Given the description of an element on the screen output the (x, y) to click on. 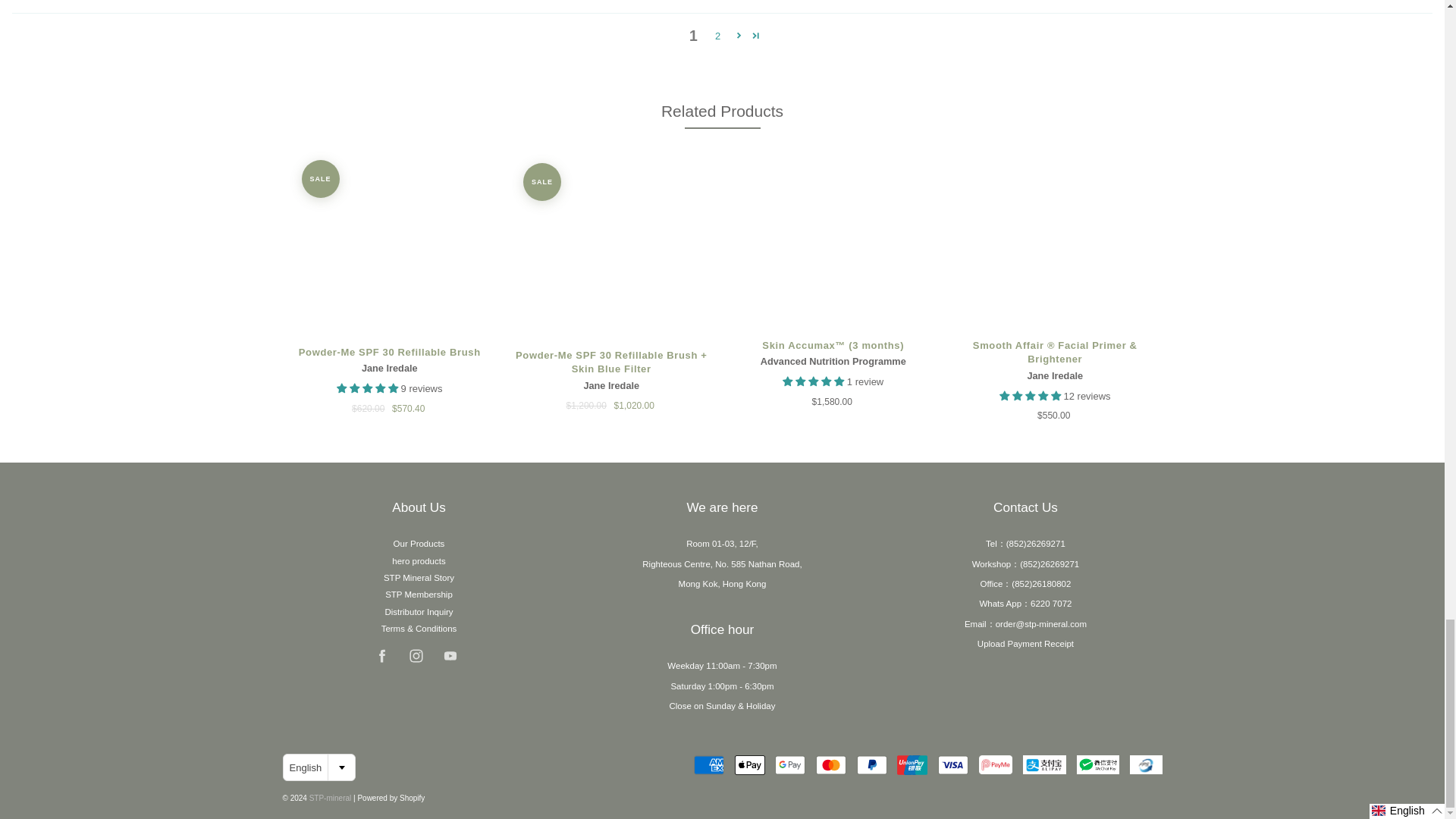
Apple Pay (750, 764)
Mastercard (830, 764)
American Express (708, 764)
Visa (952, 764)
Google Pay (789, 764)
PayPal (871, 764)
Union Pay (911, 764)
